Given the description of an element on the screen output the (x, y) to click on. 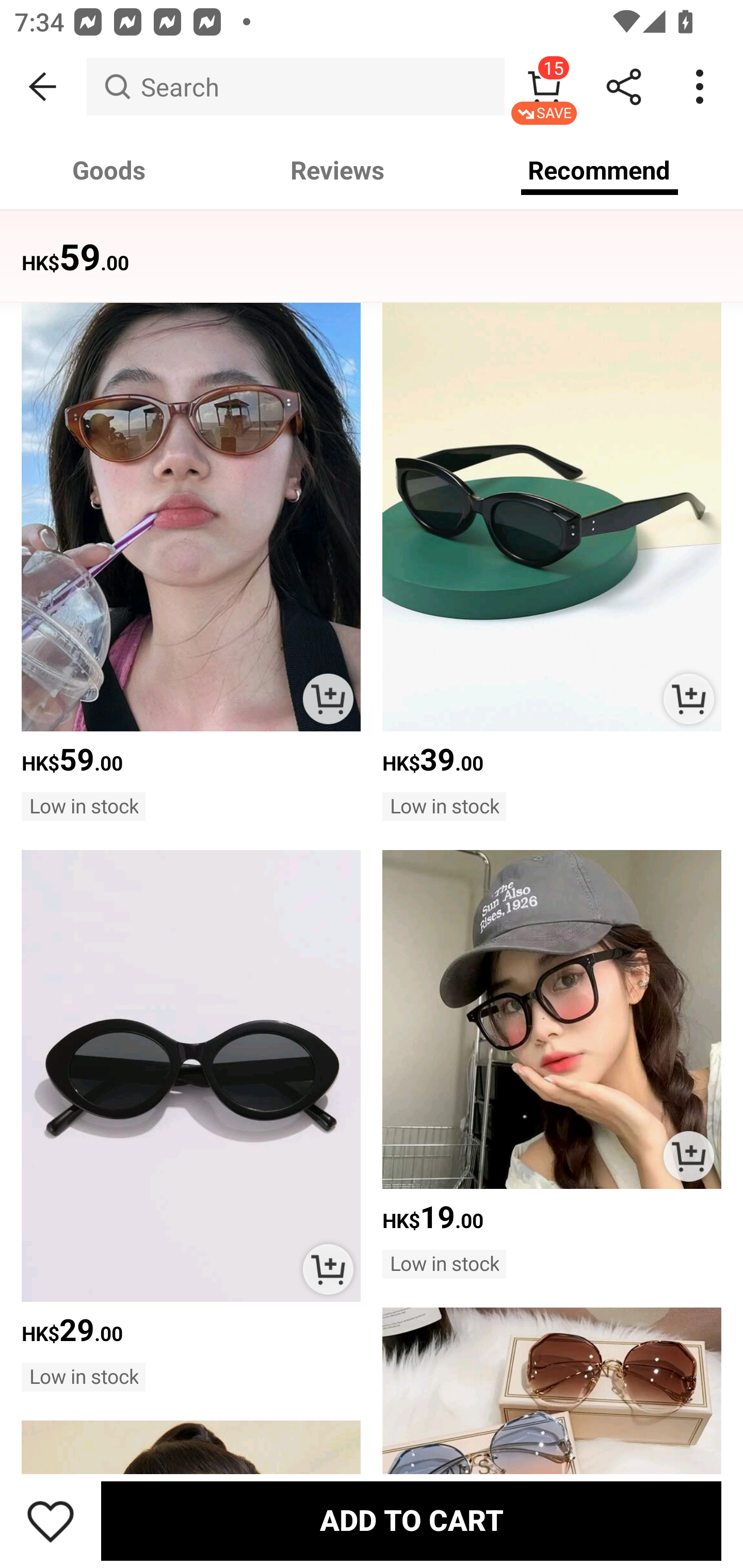
BACK (43, 86)
15 SAVE (543, 87)
Search (295, 87)
Goods (109, 170)
Reviews (337, 170)
Recommend (599, 170)
You May Also Like (371, 244)
ADD TO CART (327, 698)
ADD TO CART (688, 698)
ADD TO CART (688, 1156)
ADD TO CART (327, 1269)
ADD TO CART (411, 1520)
Save (50, 1520)
